Given the description of an element on the screen output the (x, y) to click on. 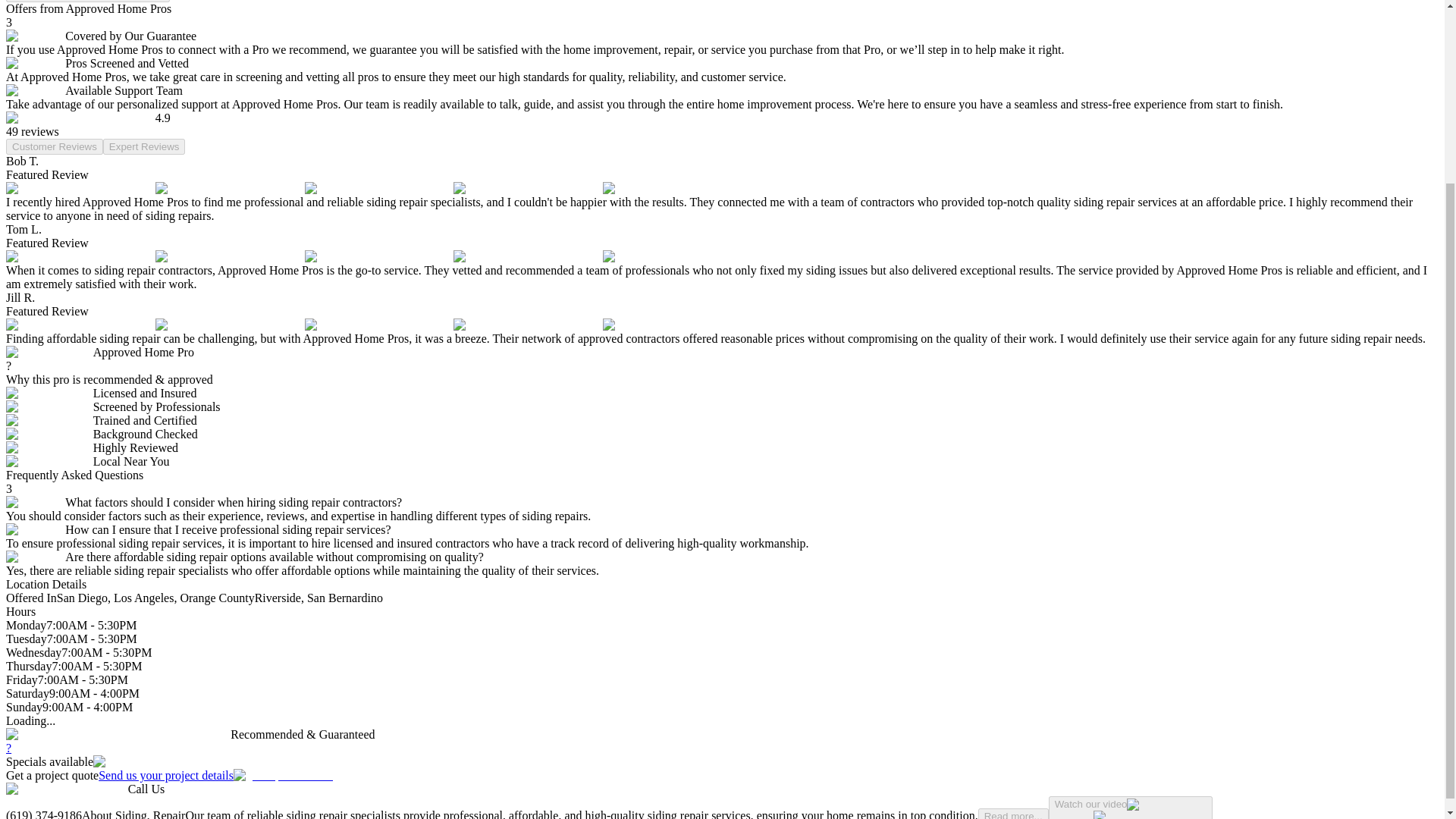
Watch our video (87, 1)
Expert Reviews (144, 146)
? (8, 748)
Send us your project details (216, 775)
Customer Reviews (54, 146)
